Given the description of an element on the screen output the (x, y) to click on. 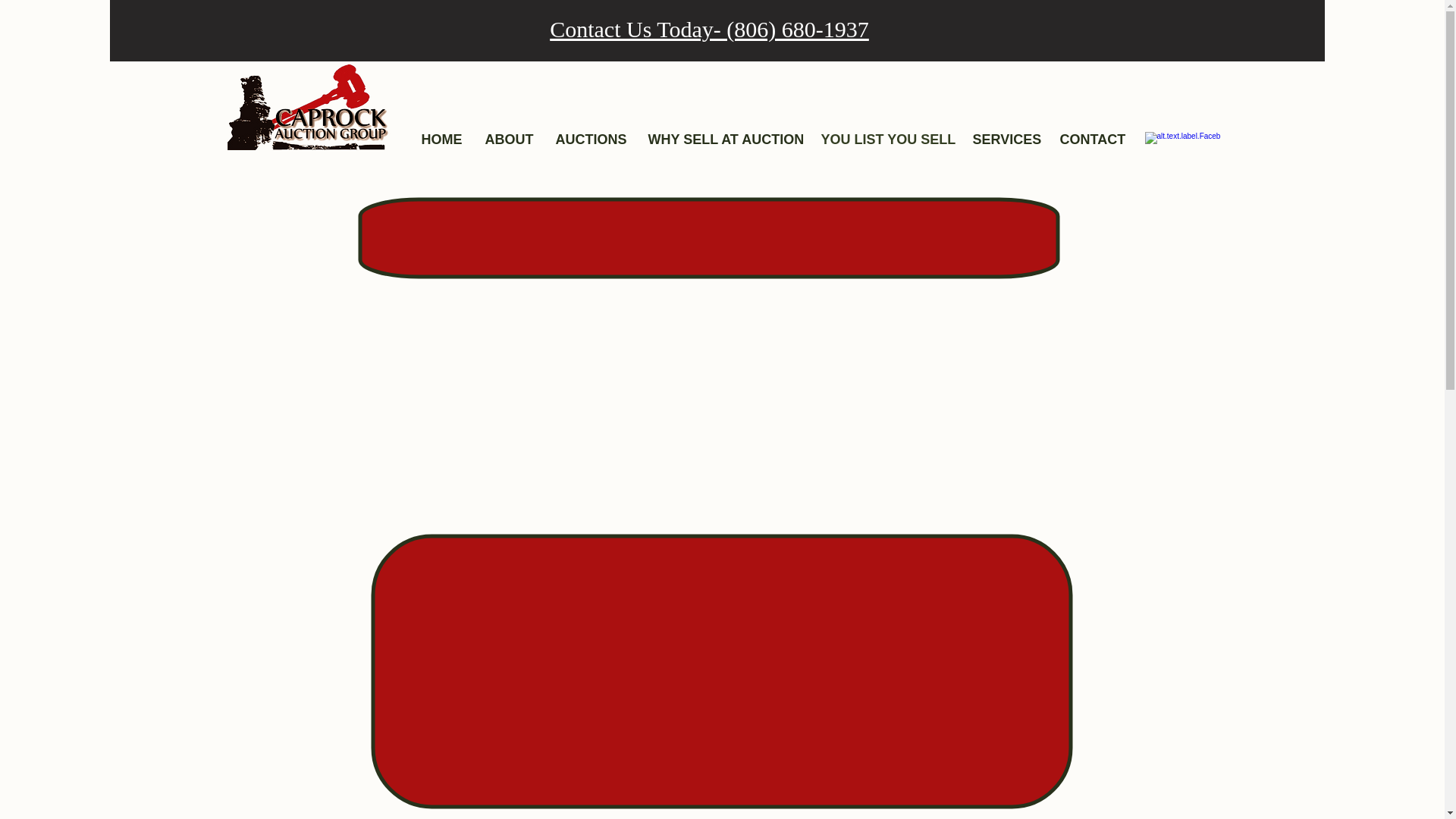
WHY SELL AT AUCTION (723, 138)
HOME (441, 138)
SERVICES (1004, 138)
CONTACT (1091, 138)
AUCTIONS (590, 138)
ABOUT (508, 138)
YOU LIST YOU SELL (884, 138)
